Given the description of an element on the screen output the (x, y) to click on. 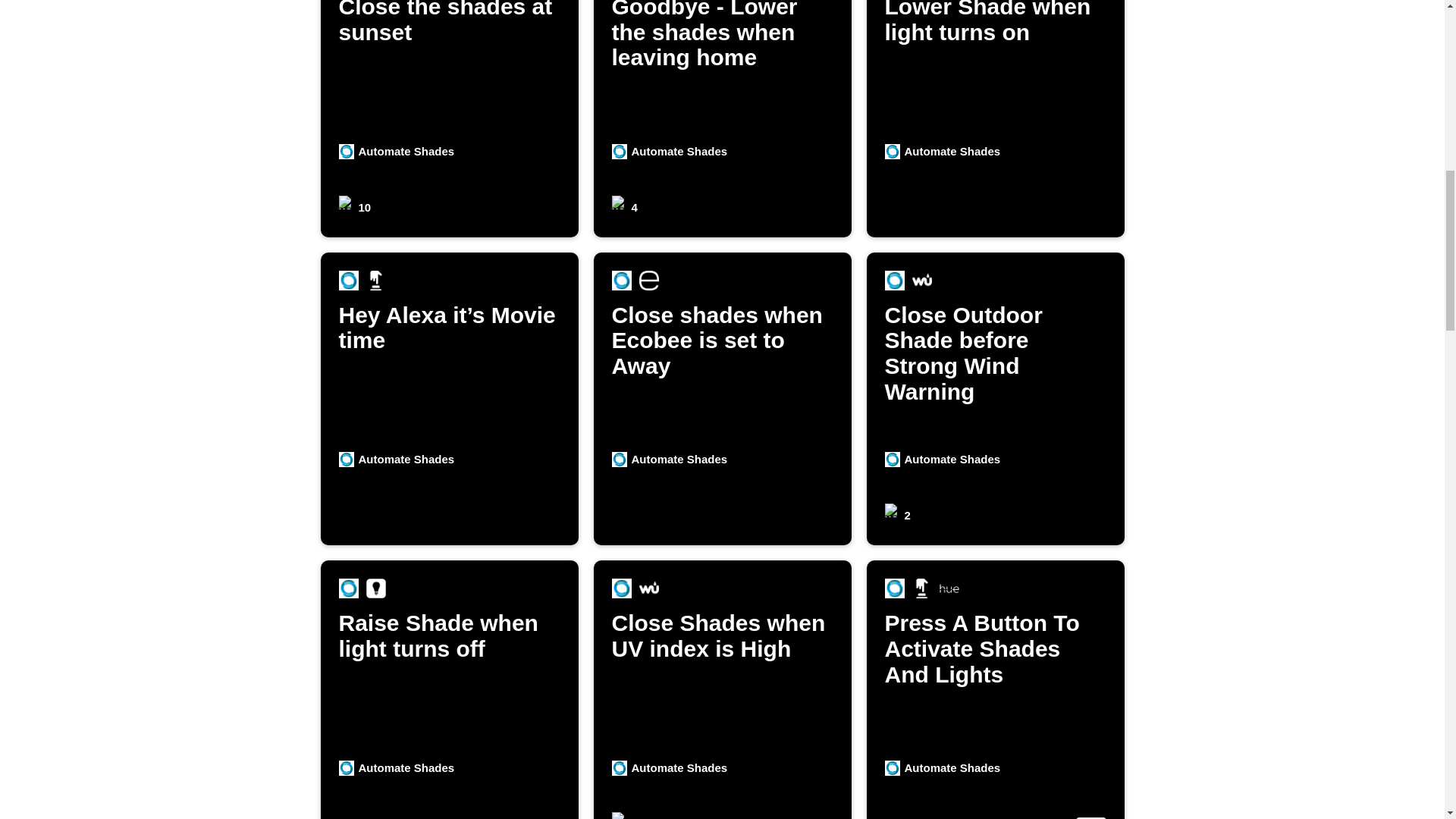
10 users enabled this Applet (995, 689)
Automate Shades (449, 118)
